Given the description of an element on the screen output the (x, y) to click on. 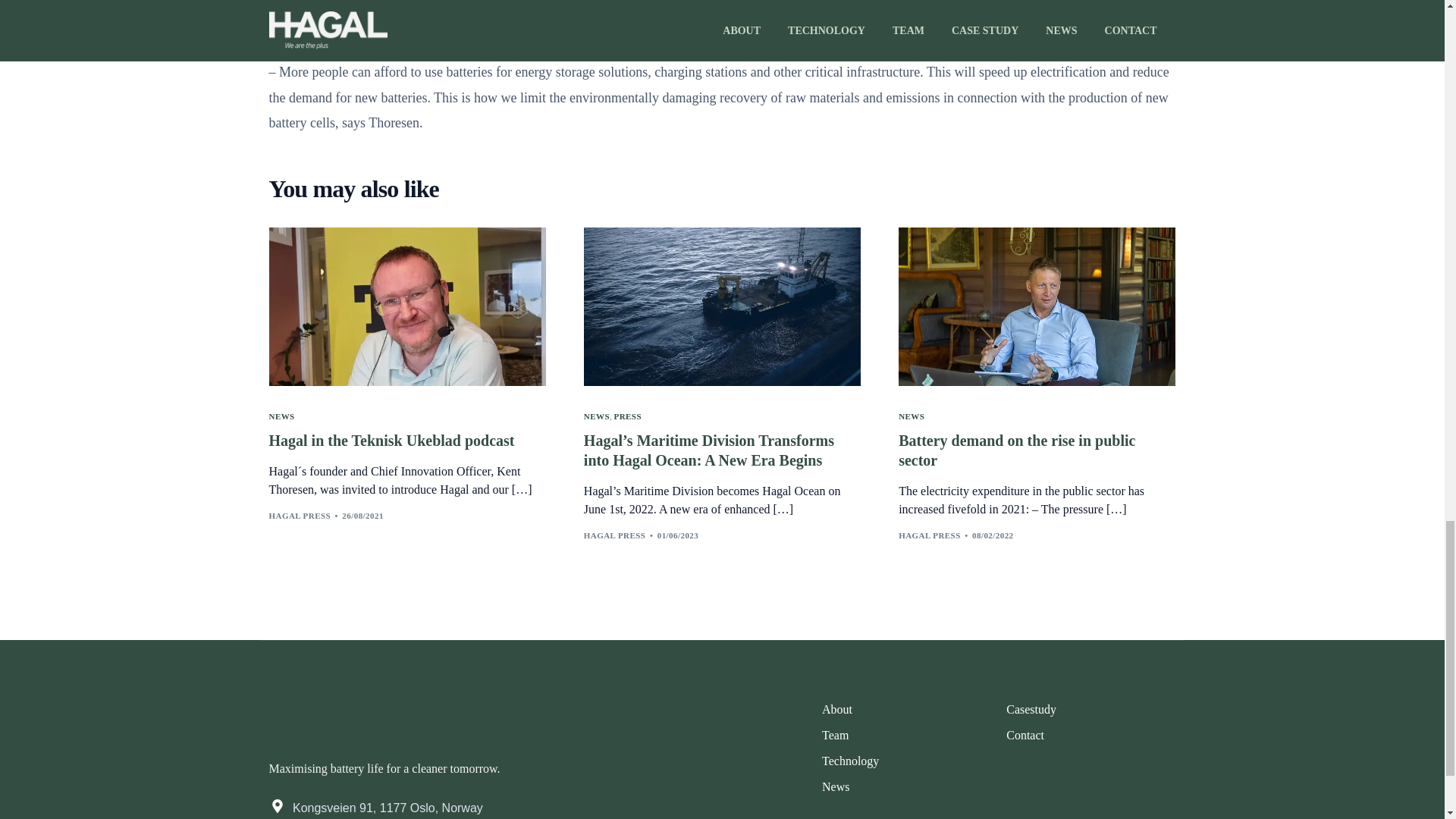
Posts by Hagal Press (929, 534)
News (850, 786)
Hagal in the Teknisk Ukeblad podcast (405, 440)
View Post: Battery demand on the rise in public sector  (1036, 450)
 View Post: Battery demand on the rise in public sector (1036, 305)
Contact (1031, 735)
HAGAL PRESS (929, 534)
NEWS (596, 416)
Posts by Hagal Press (298, 515)
Posts by Hagal Press (614, 534)
View News posts (596, 416)
About (906, 748)
View Press posts (850, 709)
